Given the description of an element on the screen output the (x, y) to click on. 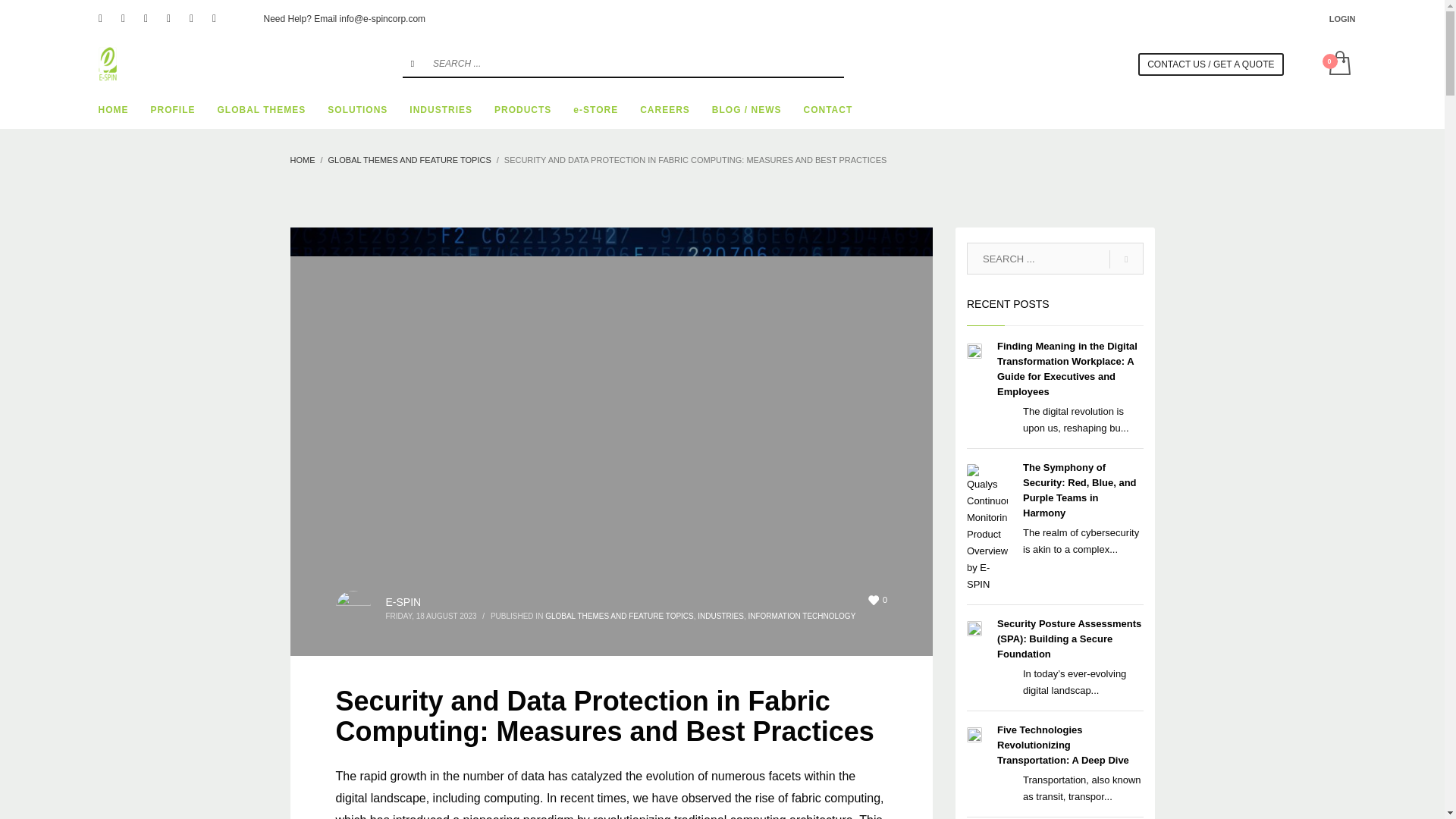
LinkedIn (168, 18)
Contact-Us (1210, 64)
Facebook (100, 18)
Youtube (191, 18)
Twitter (123, 18)
Posts by E-SPIN (402, 602)
LOGIN (1342, 18)
SOLUTIONS (357, 109)
PROFILE (172, 109)
go (412, 63)
HOME (113, 109)
Pinterest (146, 18)
WordPress (214, 18)
